Given the description of an element on the screen output the (x, y) to click on. 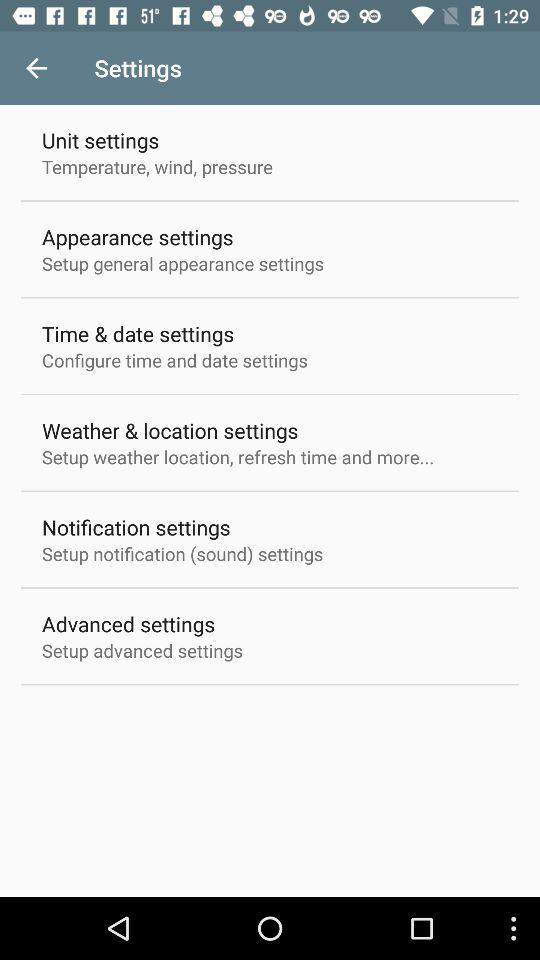
select temperature, wind, pressure icon (157, 166)
